Given the description of an element on the screen output the (x, y) to click on. 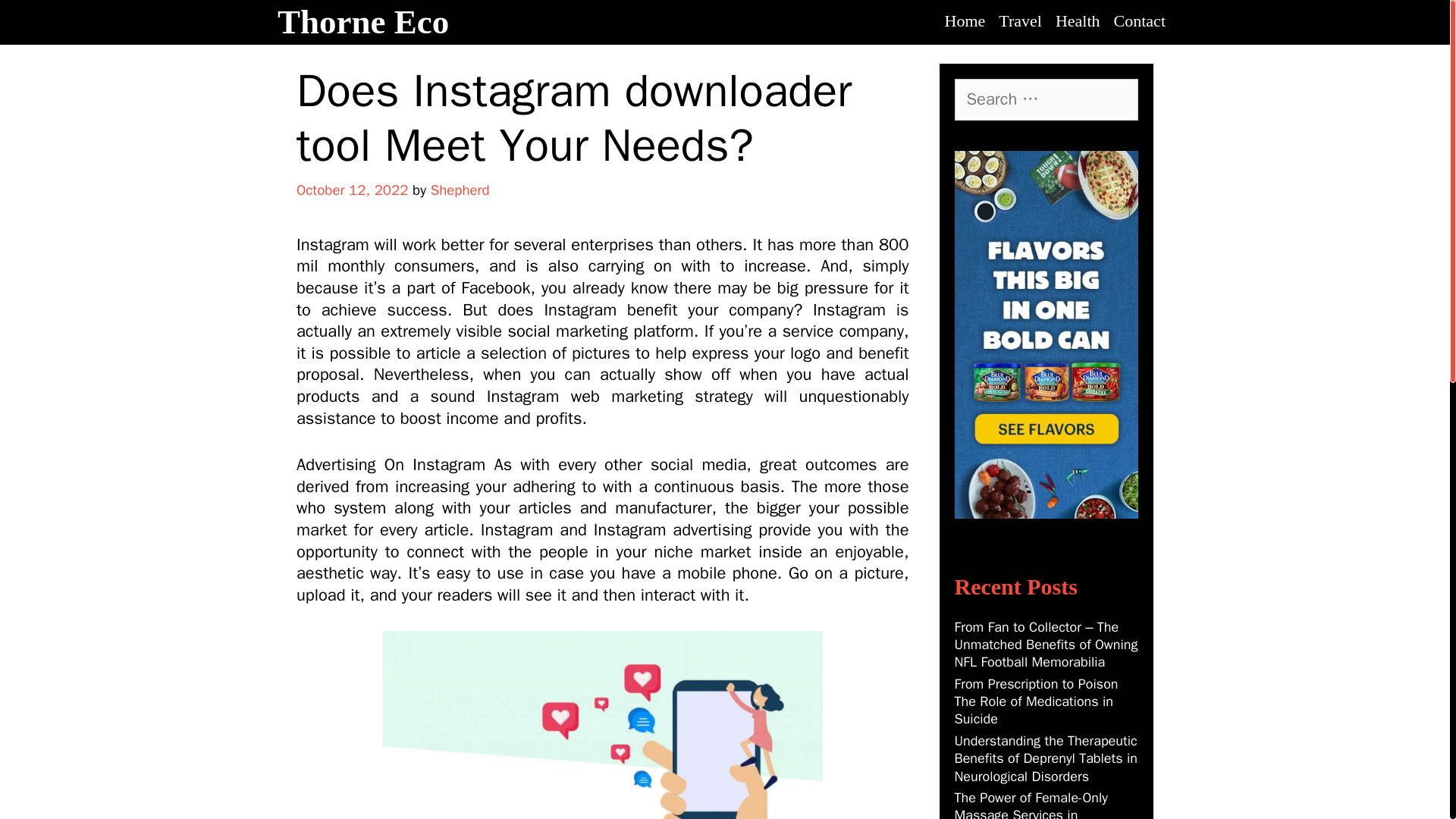
Travel (1019, 20)
Health (1077, 20)
View all posts by Shepherd (459, 189)
Thorne Eco (363, 21)
Contact (1139, 20)
Shepherd (459, 189)
Home (964, 20)
Search (39, 21)
October 12, 2022 (352, 189)
Search for: (1045, 99)
7:21 am (352, 189)
